Given the description of an element on the screen output the (x, y) to click on. 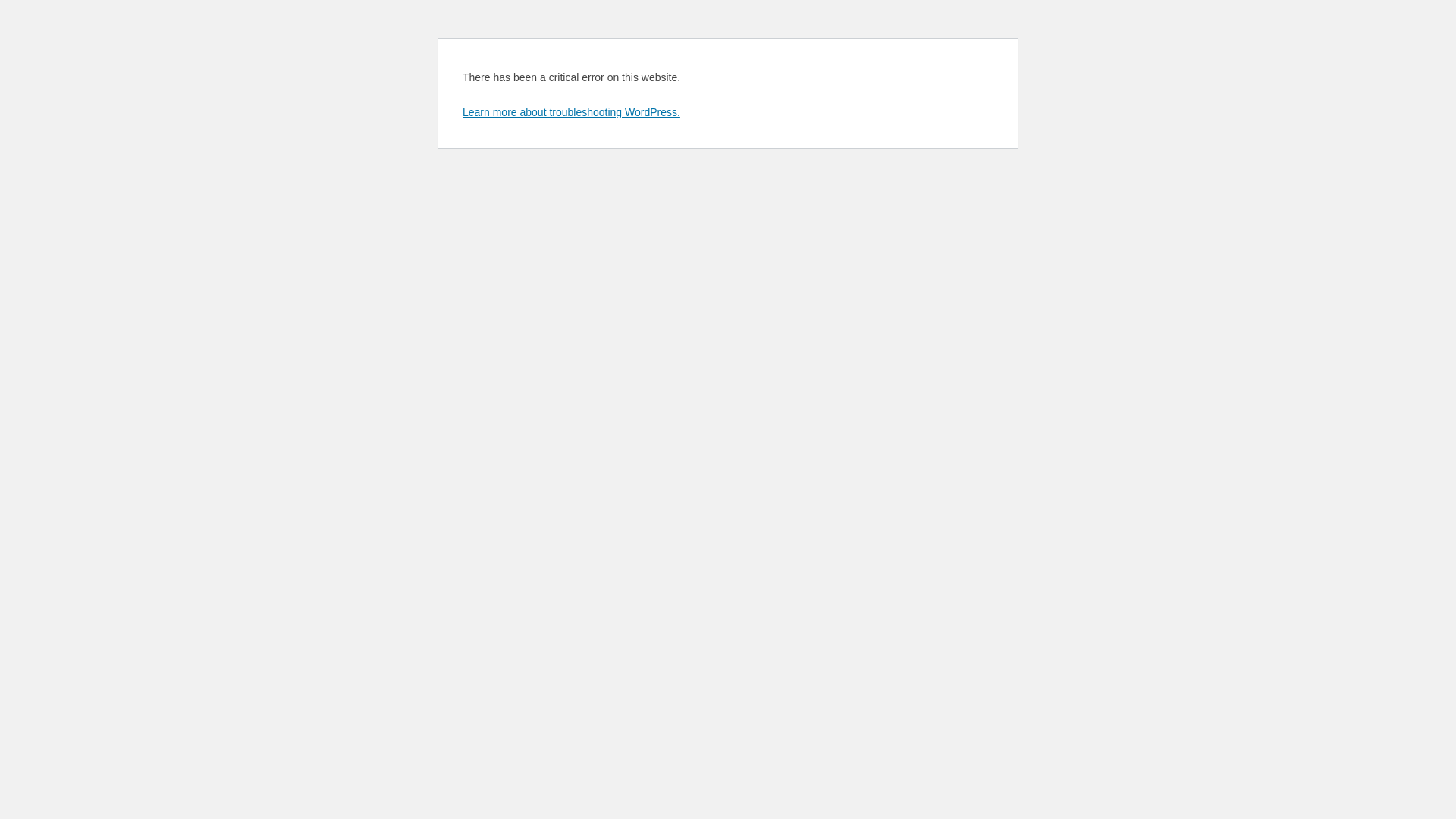
Learn more about troubleshooting WordPress. Element type: text (571, 112)
